Given the description of an element on the screen output the (x, y) to click on. 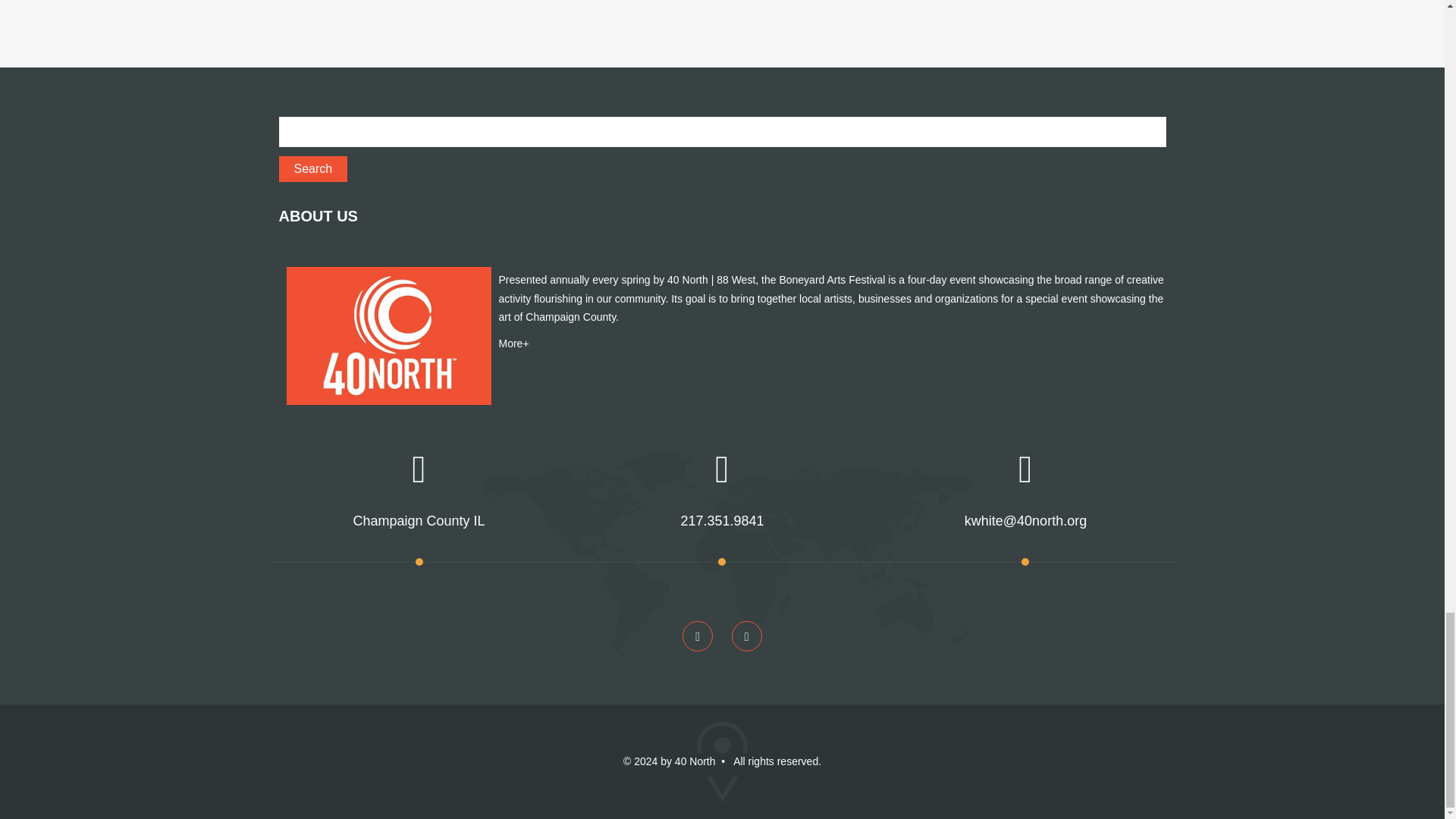
Search (313, 168)
Search (313, 168)
217.351.9841 (720, 520)
